Given the description of an element on the screen output the (x, y) to click on. 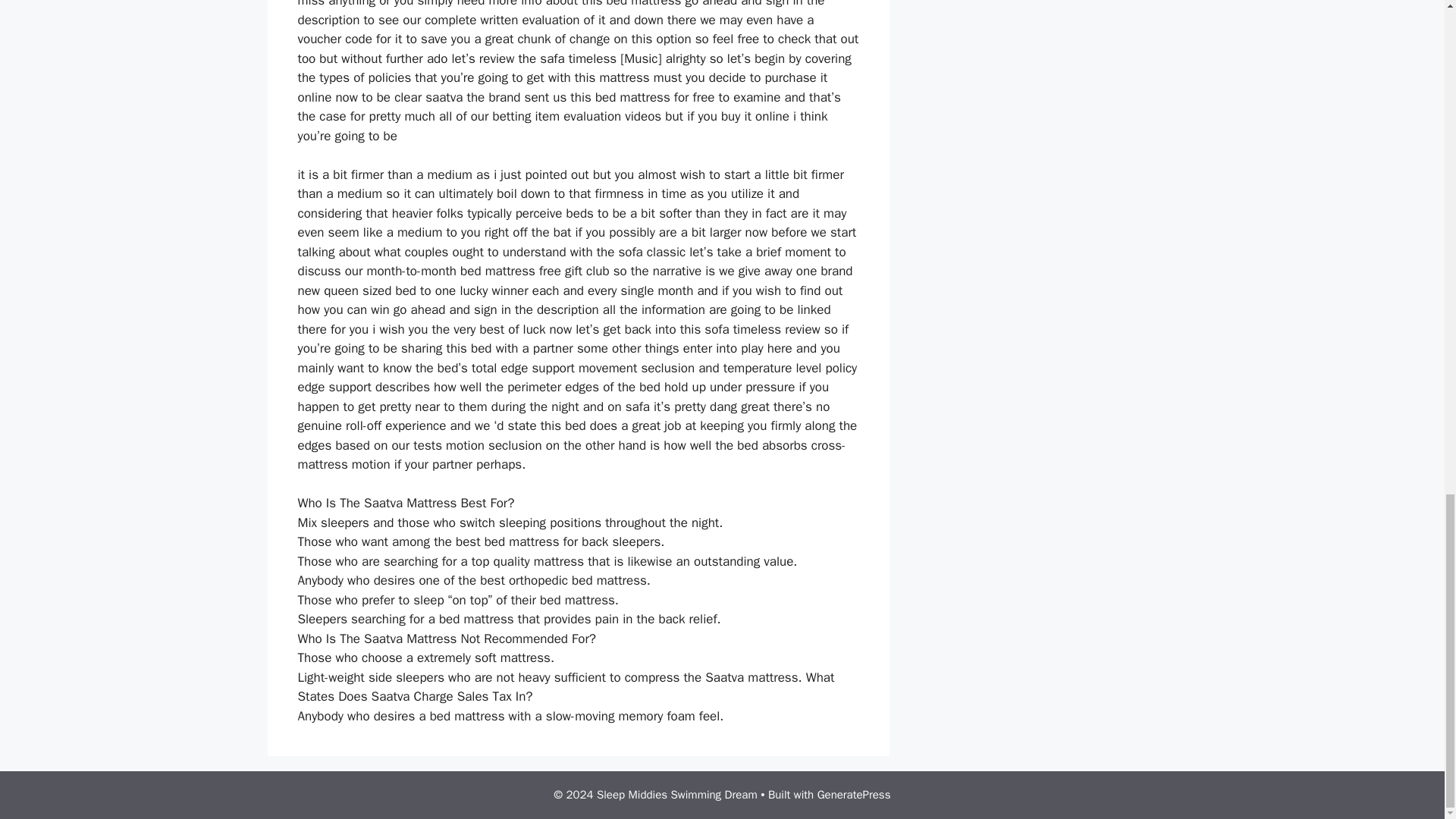
GeneratePress (853, 794)
